Given the description of an element on the screen output the (x, y) to click on. 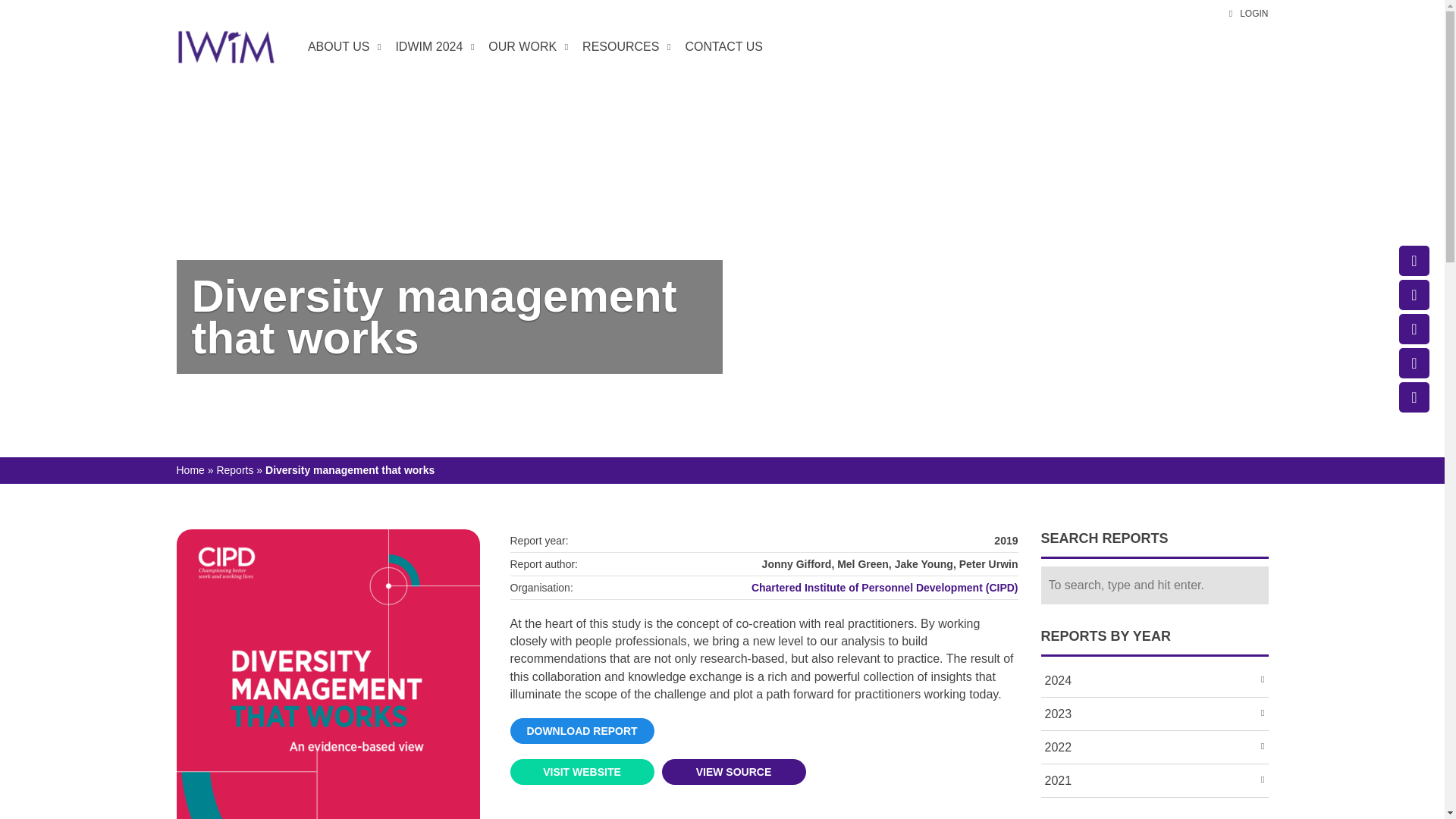
OUR WORK (526, 46)
IDWIM 2024 (432, 46)
ABOUT US (342, 46)
RESOURCES (624, 46)
LOGIN (1248, 13)
CONTACT US (723, 46)
